Given the description of an element on the screen output the (x, y) to click on. 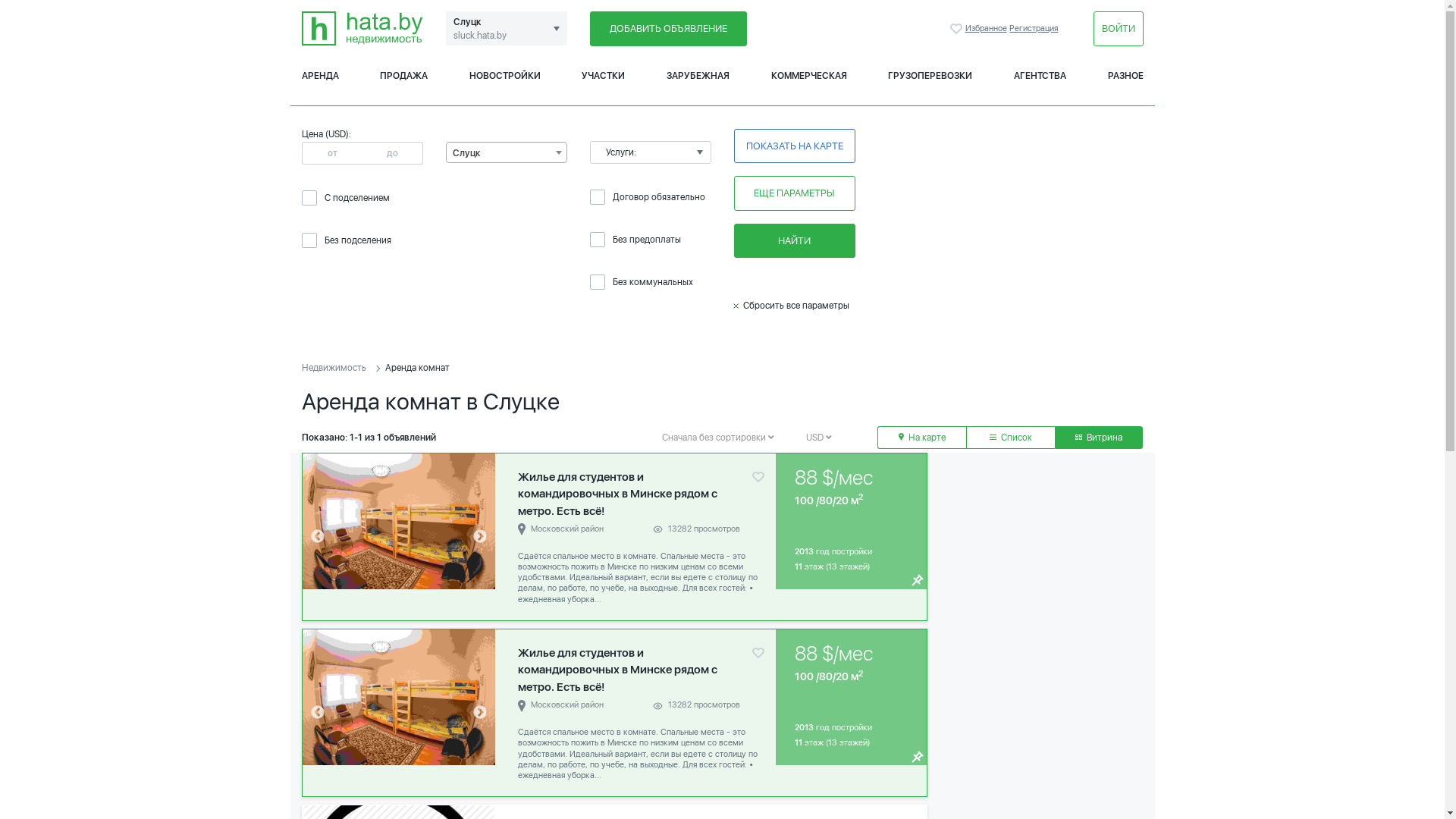
Next Element type: text (479, 712)
Next Element type: text (479, 536)
Previous Element type: text (316, 536)
Previous Element type: text (316, 712)
